Given the description of an element on the screen output the (x, y) to click on. 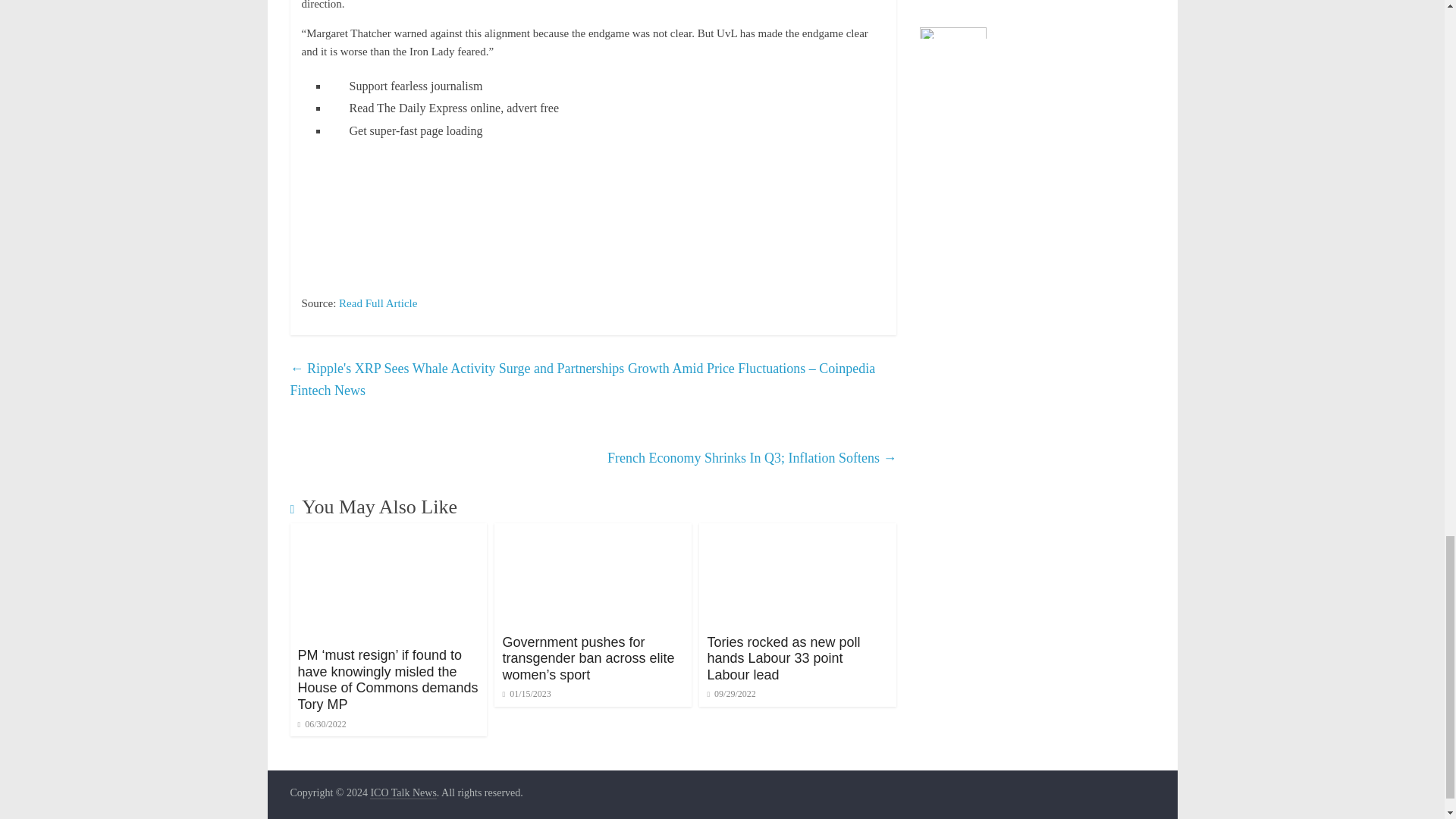
10:39 pm (526, 693)
Read Full Article (377, 303)
8:42 pm (321, 724)
Tories rocked as new poll hands Labour 33 point Labour lead (783, 658)
Tories rocked as new poll hands Labour 33 point Labour lead (783, 658)
4:58 pm (730, 693)
Tories rocked as new poll hands Labour 33 point Labour lead (797, 532)
